Given the description of an element on the screen output the (x, y) to click on. 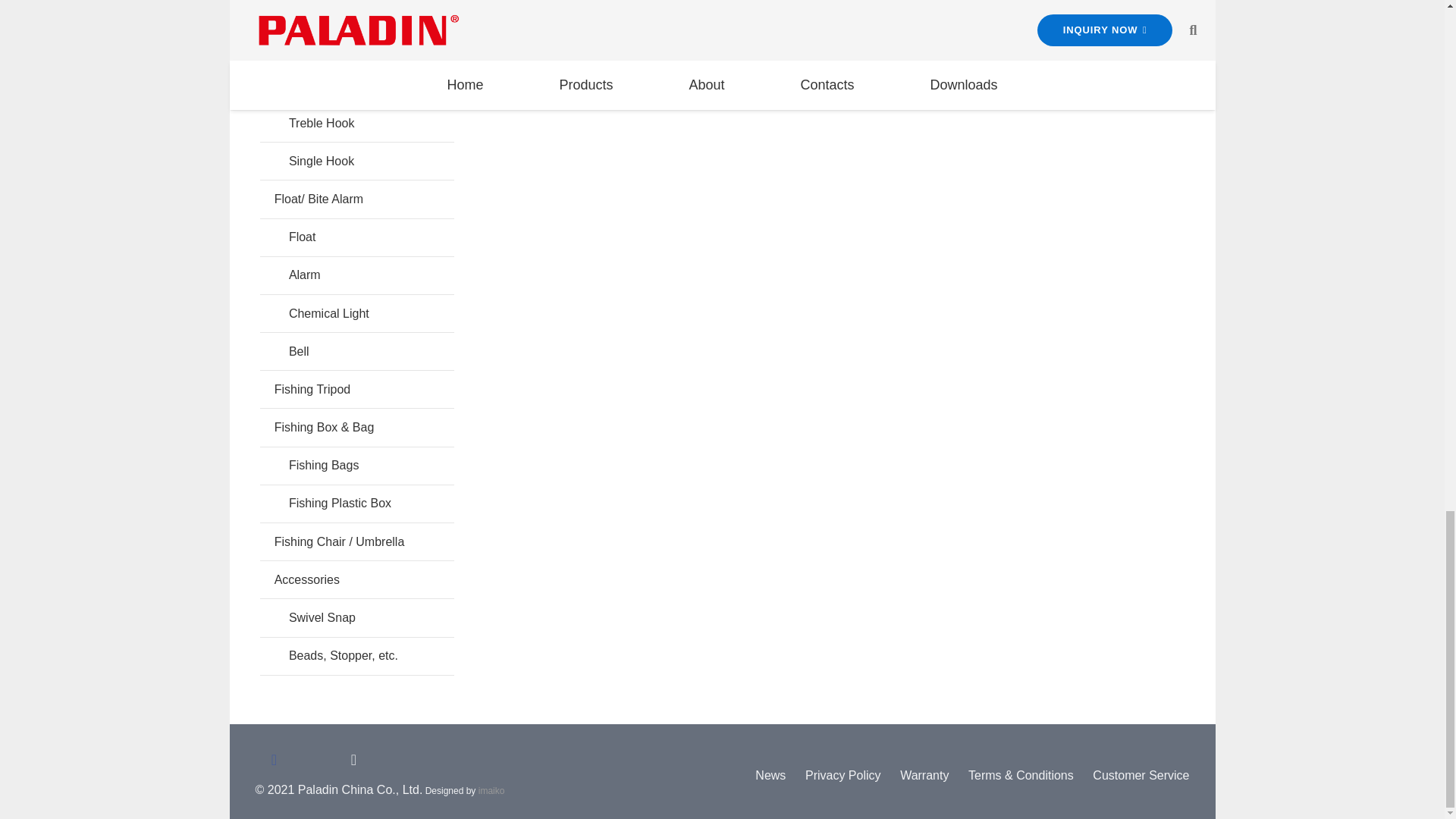
LinkedIn (353, 759)
Facebook (273, 759)
